Given the description of an element on the screen output the (x, y) to click on. 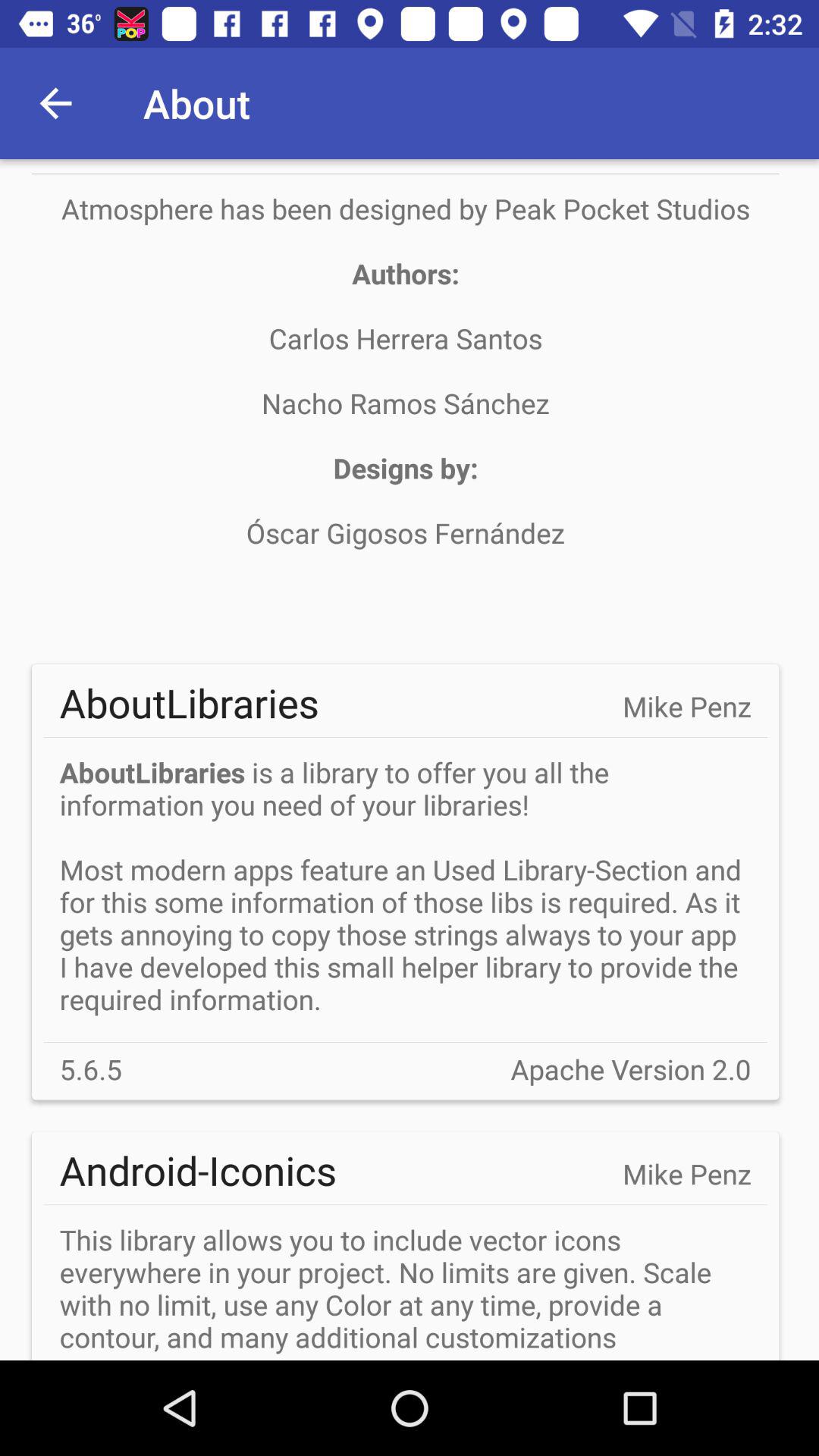
open the icon to the left of the about icon (55, 103)
